Given the description of an element on the screen output the (x, y) to click on. 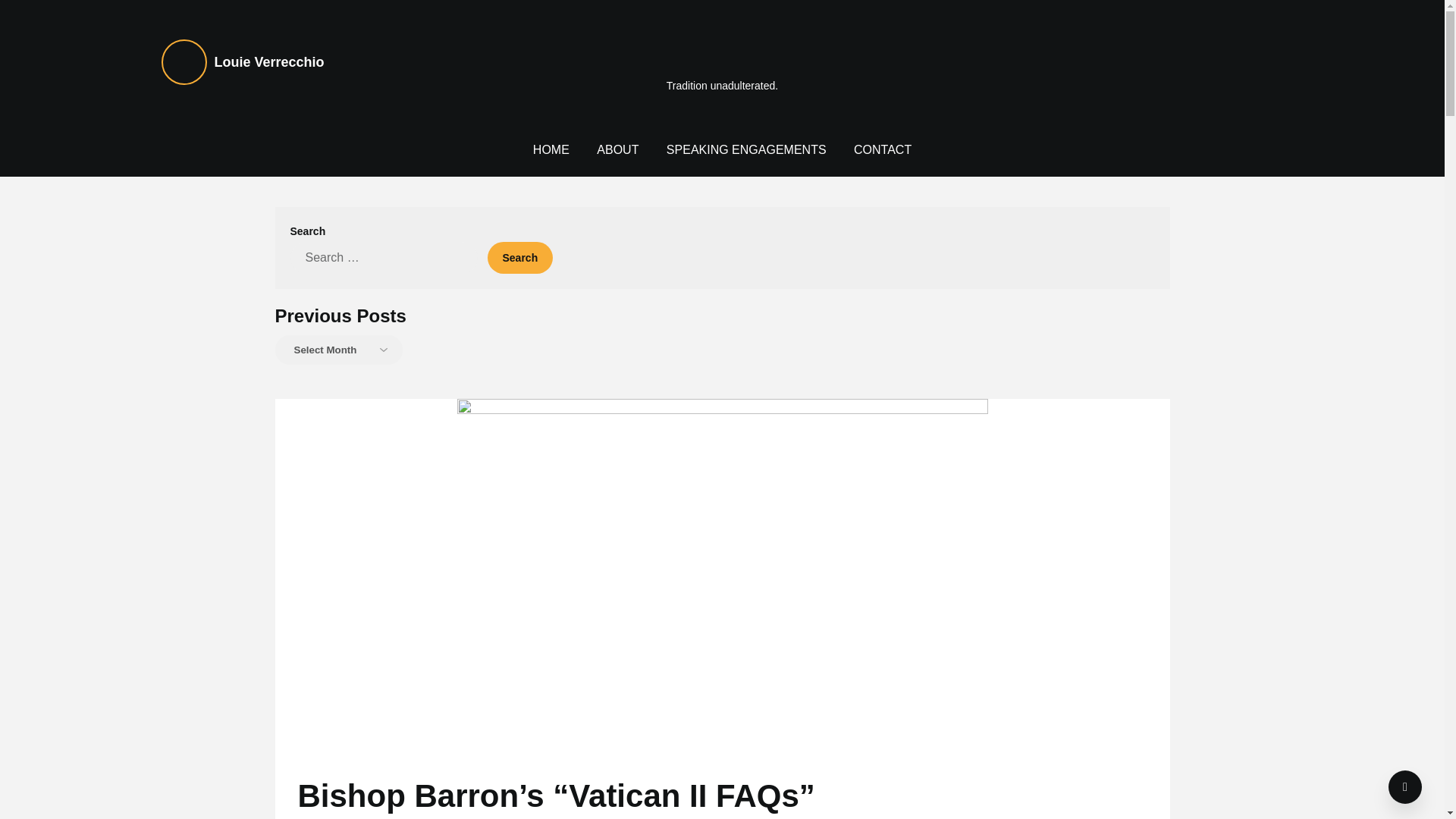
CONTACT (882, 150)
SPEAKING ENGAGEMENTS (745, 150)
Search (519, 257)
To Top (1405, 786)
Search (519, 257)
ABOUT (617, 150)
HOME (550, 150)
Search (519, 257)
